Given the description of an element on the screen output the (x, y) to click on. 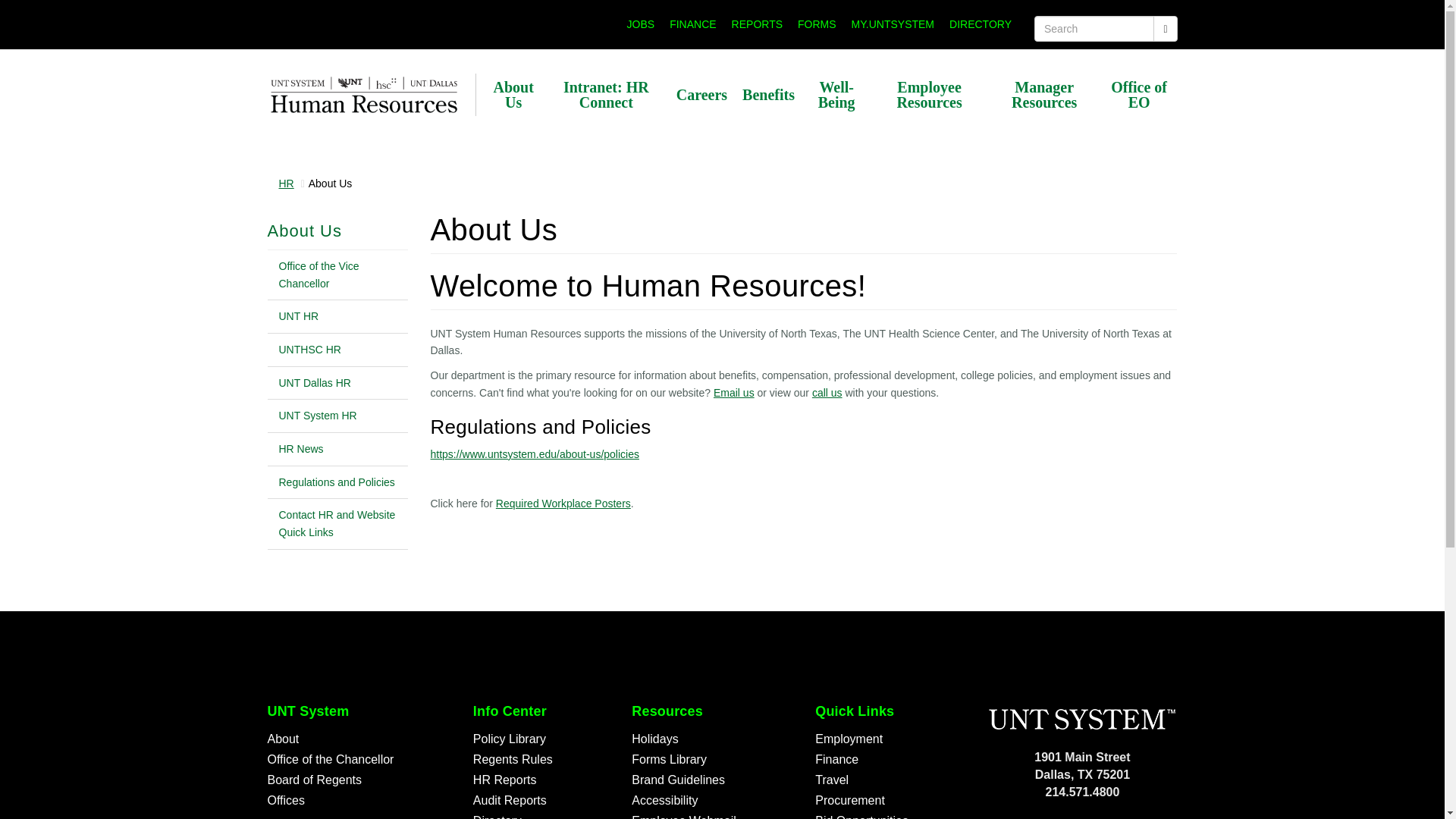
REPORTS (756, 24)
Email HR (733, 392)
UNTS (1081, 718)
JOBS (641, 24)
UNT System HR Logo (363, 95)
DIRECTORY (980, 24)
HR Connect Intranet Site (605, 94)
Benefits (768, 94)
MY.UNTSYSTEM (893, 24)
Intranet: HR Connect (605, 94)
